Given the description of an element on the screen output the (x, y) to click on. 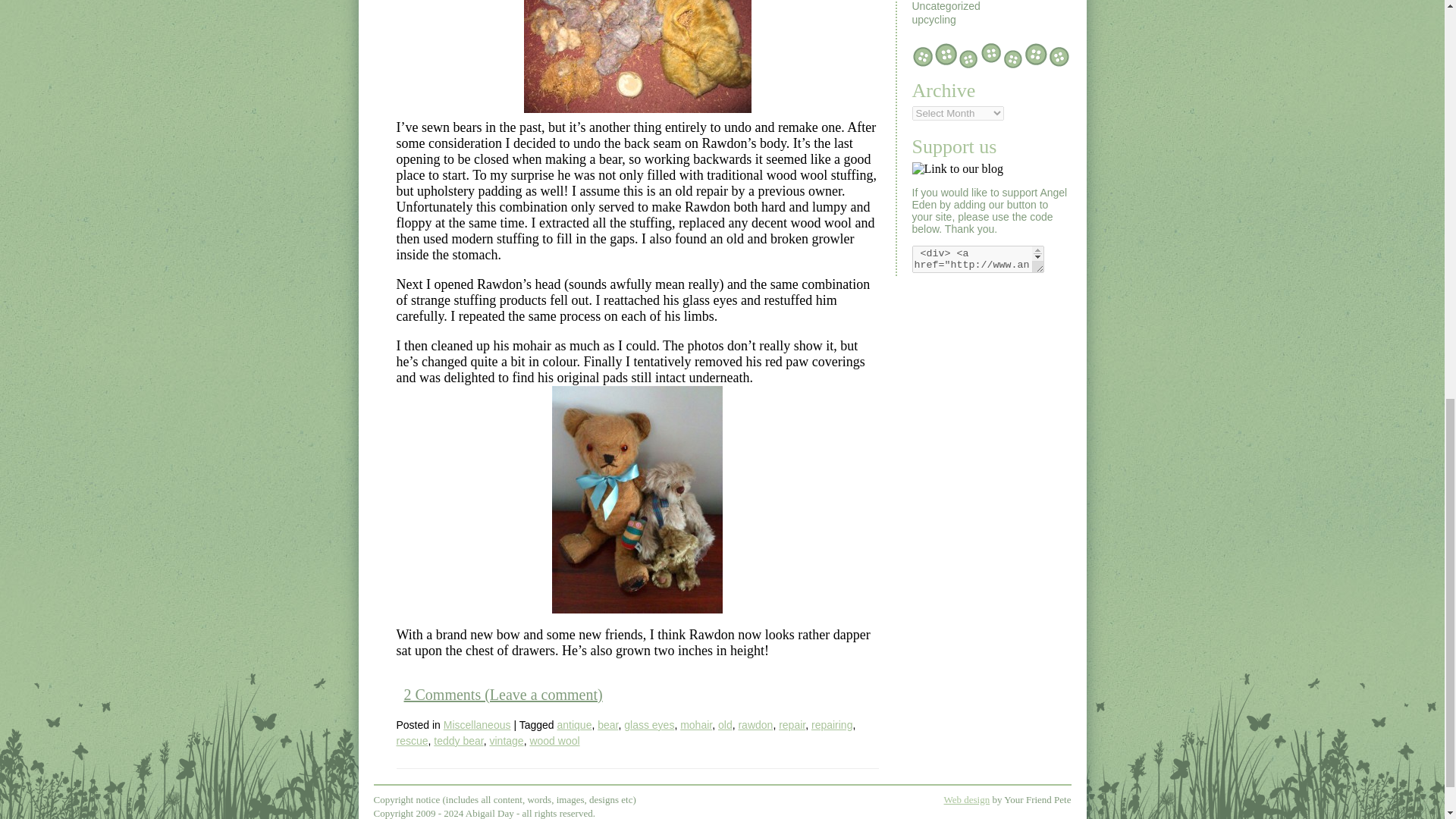
Miscellaneous (477, 725)
rawdon (755, 725)
repairing (830, 725)
mohair (695, 725)
wood wool (554, 740)
antique (573, 725)
old (724, 725)
glass eyes (649, 725)
bear (606, 725)
vintage (505, 740)
